Given the description of an element on the screen output the (x, y) to click on. 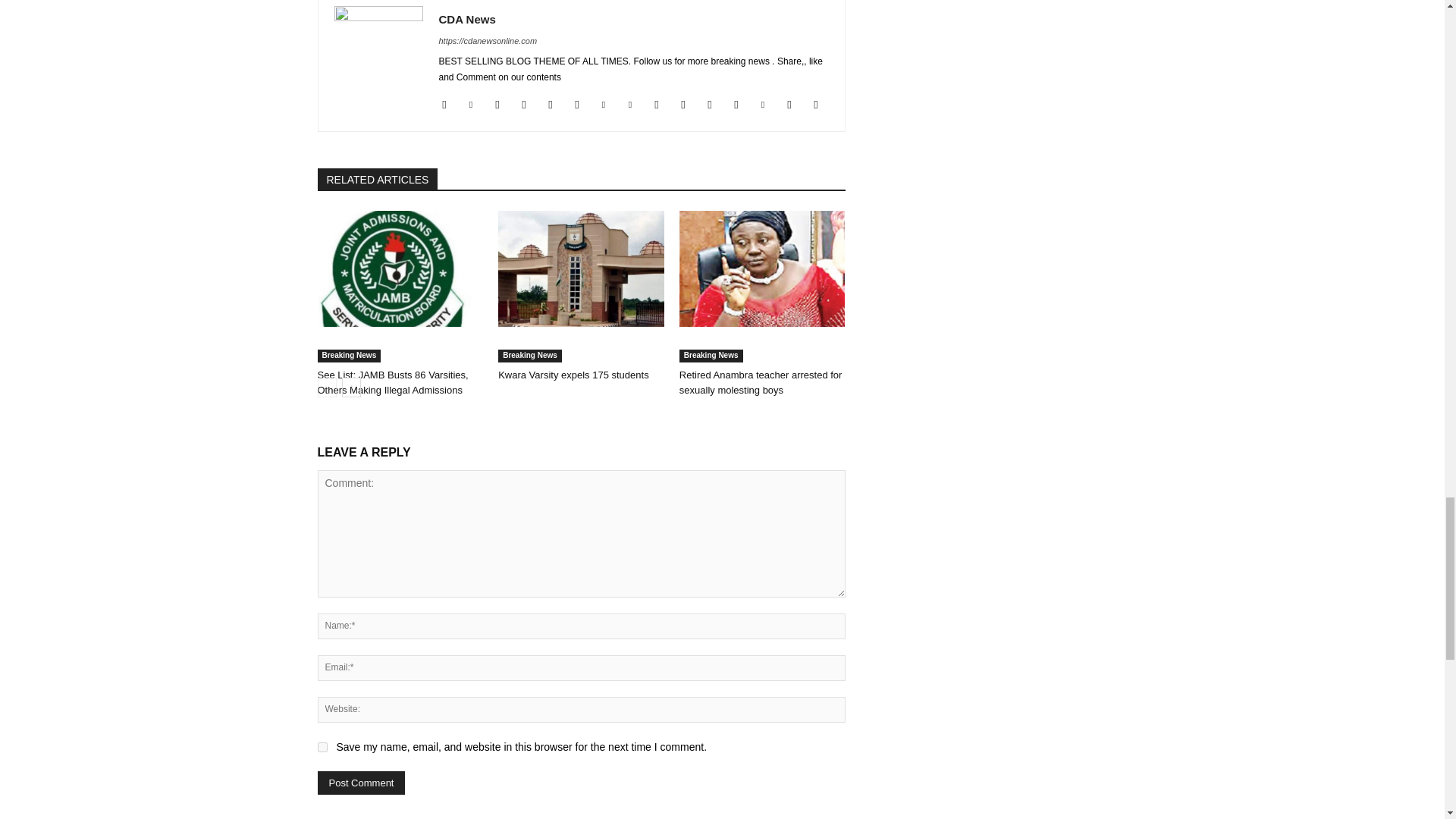
Post Comment (360, 782)
yes (321, 747)
